Given the description of an element on the screen output the (x, y) to click on. 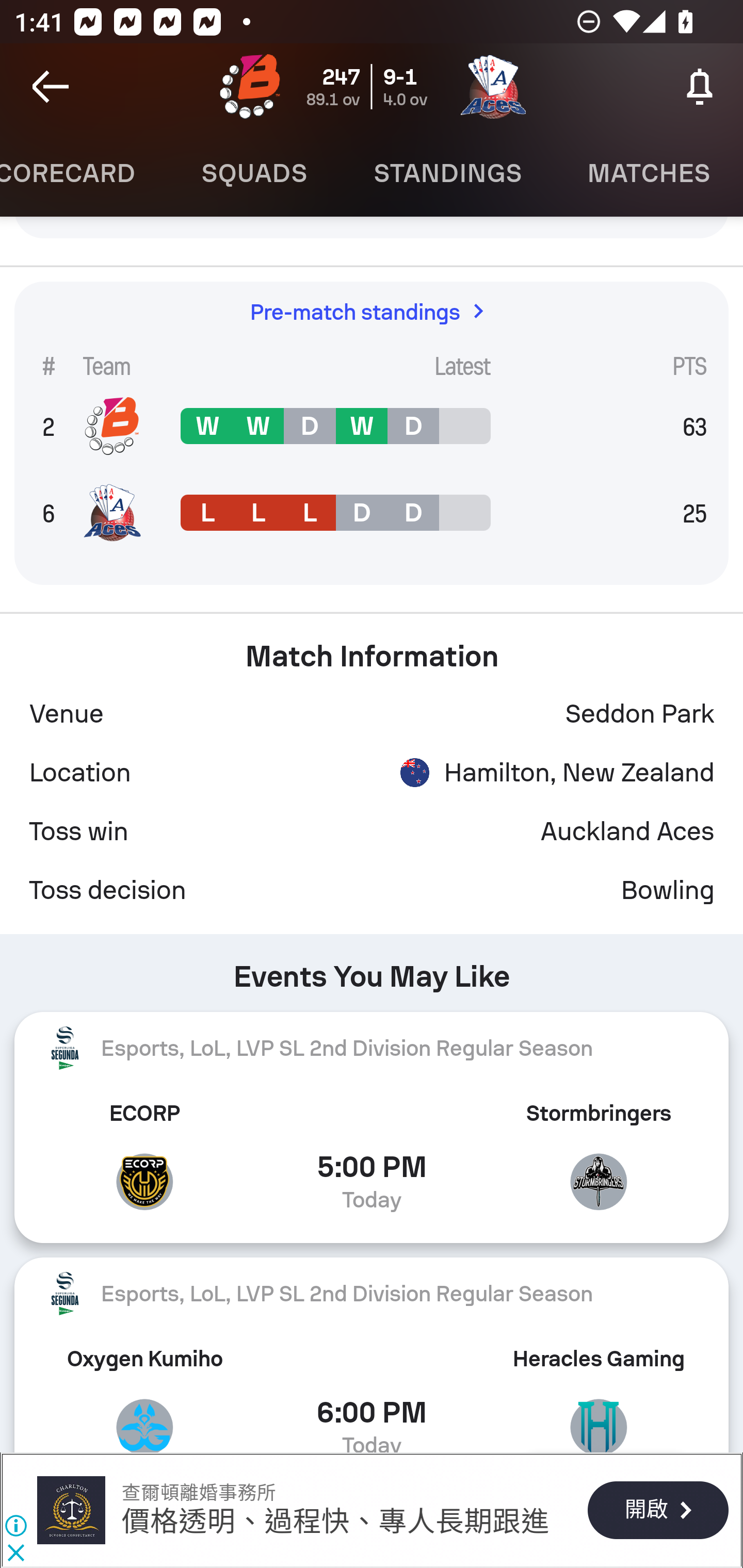
Navigate up (50, 86)
Scorecard SCORECARD (84, 173)
Squads SQUADS (254, 173)
Standings STANDINGS (447, 173)
Matches MATCHES (648, 173)
Events You May Like (371, 969)
Esports, LoL, LVP SL 2nd Division Regular Season (371, 1047)
Esports, LoL, LVP SL 2nd Division Regular Season (371, 1293)
查爾頓離婚事務所 (71, 1509)
查爾頓離婚事務所 (197, 1493)
開啟 (657, 1511)
價格透明、過程快、專人長期跟進 (335, 1523)
